Given the description of an element on the screen output the (x, y) to click on. 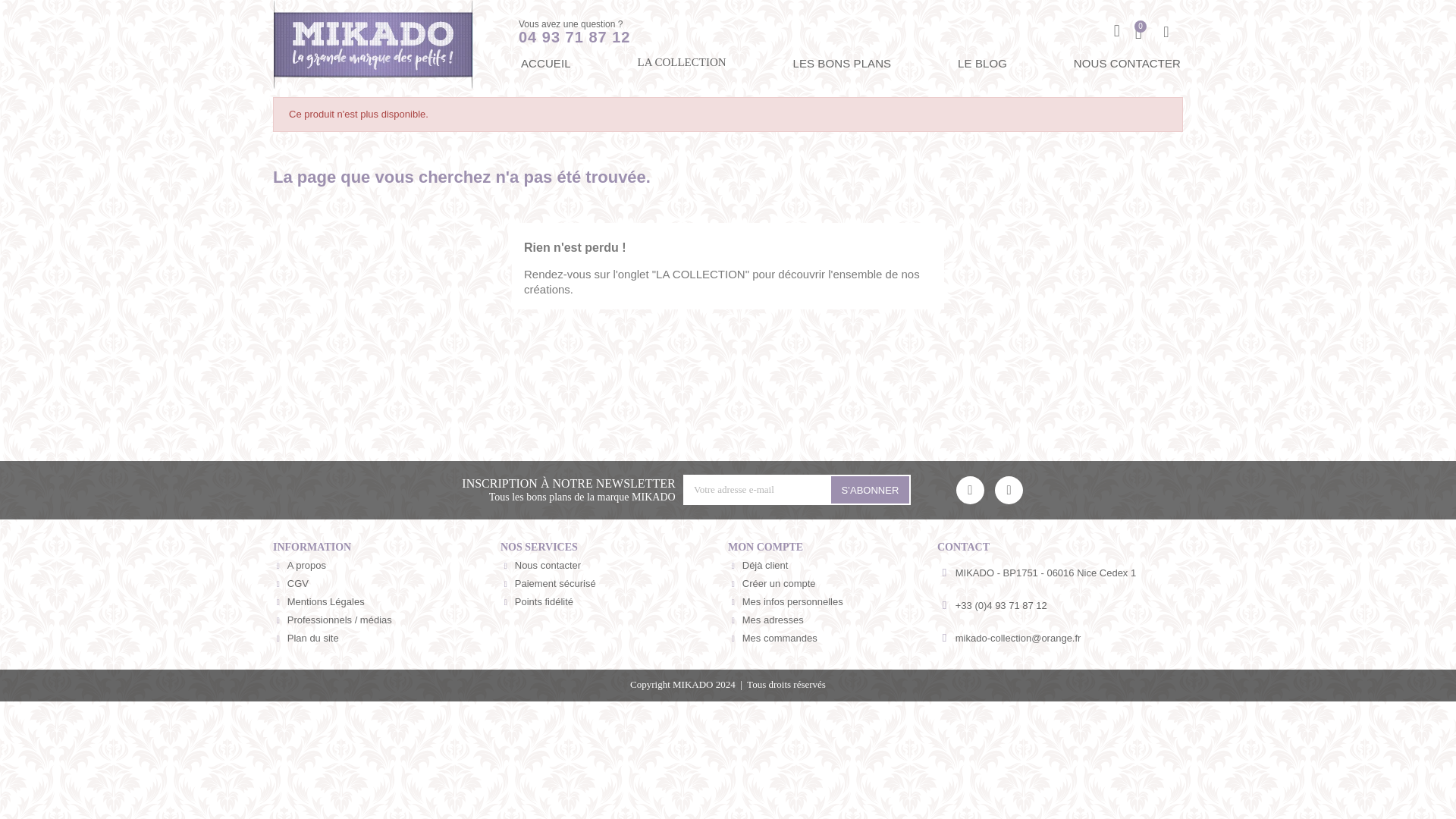
ACCUEIL (545, 63)
Nous contacter (614, 565)
LE BLOG (982, 63)
LA COLLECTION (681, 62)
Mes infos personnelles (832, 601)
NOUS CONTACTER (1126, 63)
04 93 71 87 12 (574, 36)
Plan du site (386, 638)
LES BONS PLANS (841, 63)
A propos (386, 565)
CGV (386, 583)
